Given the description of an element on the screen output the (x, y) to click on. 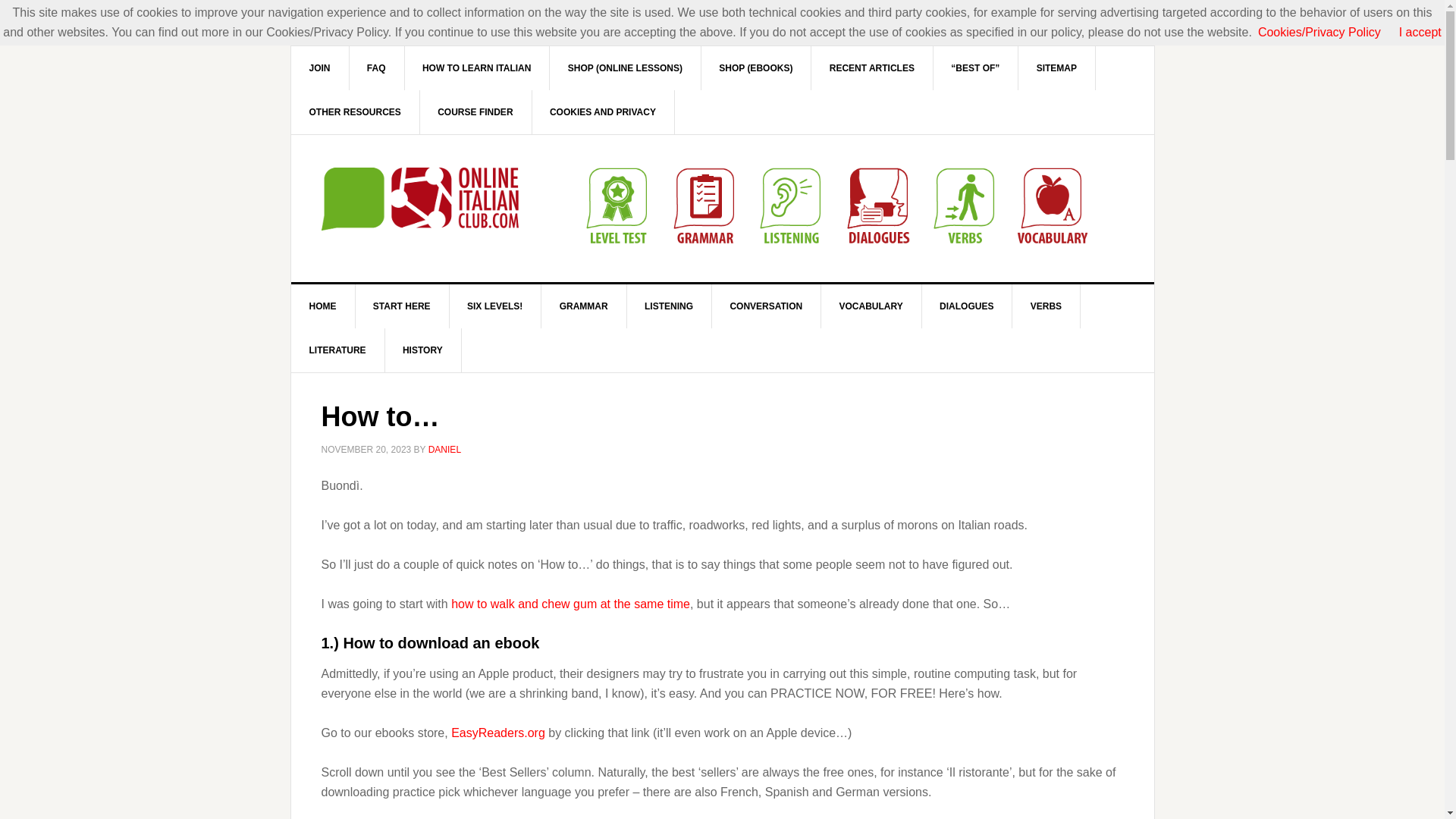
HOME (323, 306)
ONLINE ITALIAN CLUB (419, 199)
OTHER RESOURCES (355, 112)
how to walk and chew gum at the same time (570, 603)
JOIN (320, 67)
HISTORY (422, 350)
DANIEL (444, 449)
VERBS (1045, 306)
START HERE (402, 306)
EasyReaders.org (497, 732)
CONVERSATION (766, 306)
VOCABULARY (871, 306)
LITERATURE (338, 350)
SITEMAP (1056, 67)
LISTENING (668, 306)
